Given the description of an element on the screen output the (x, y) to click on. 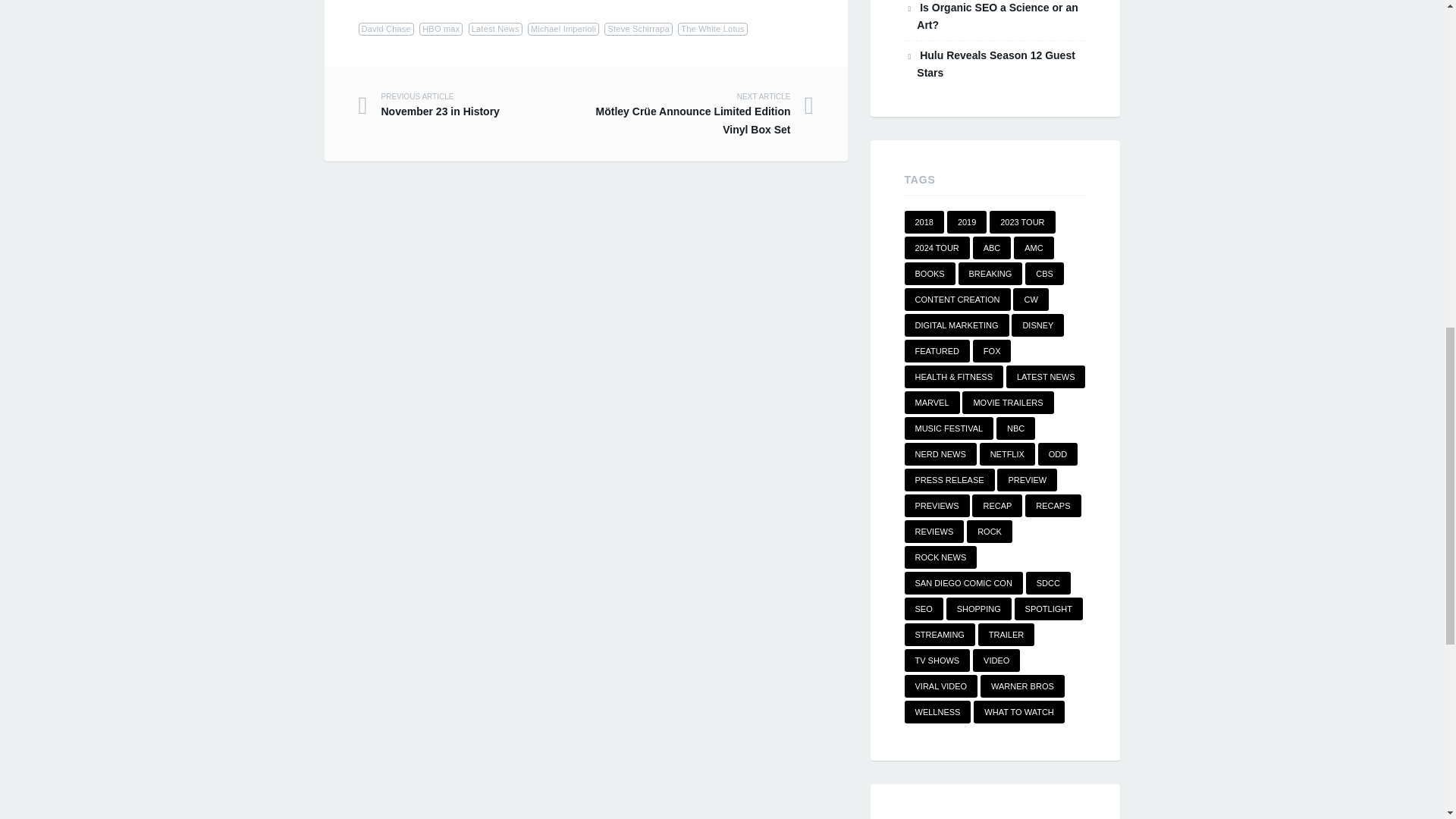
AMC (1032, 247)
Steve Schirrapa (638, 29)
2018 (923, 221)
BOOKS (929, 273)
2023 TOUR (1022, 221)
The White Lotus (712, 29)
Is Organic SEO a Science or an Art? (997, 16)
HBO max (471, 105)
David Chase (441, 29)
